Given the description of an element on the screen output the (x, y) to click on. 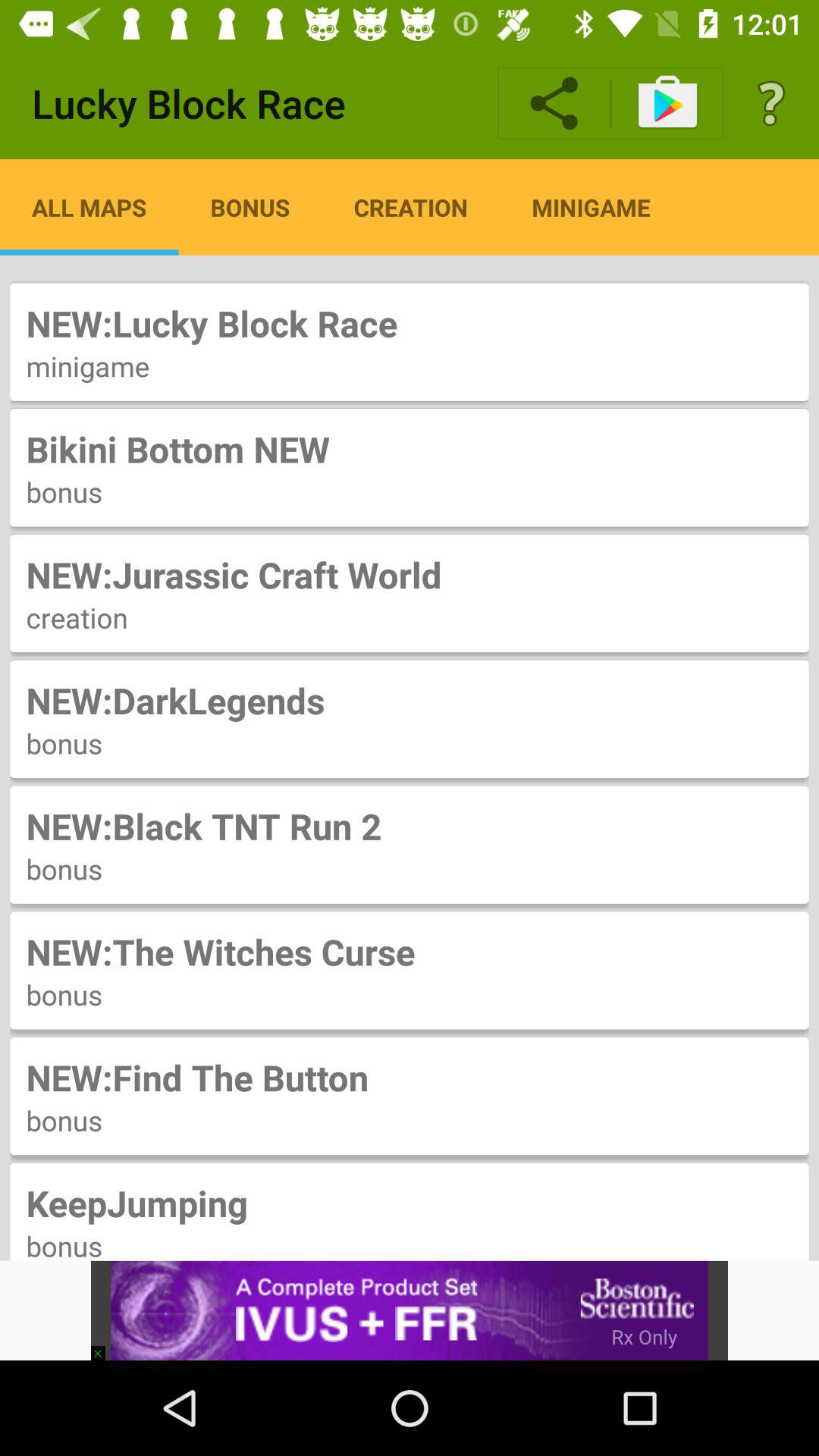
open the keepjumping item (409, 1203)
